Given the description of an element on the screen output the (x, y) to click on. 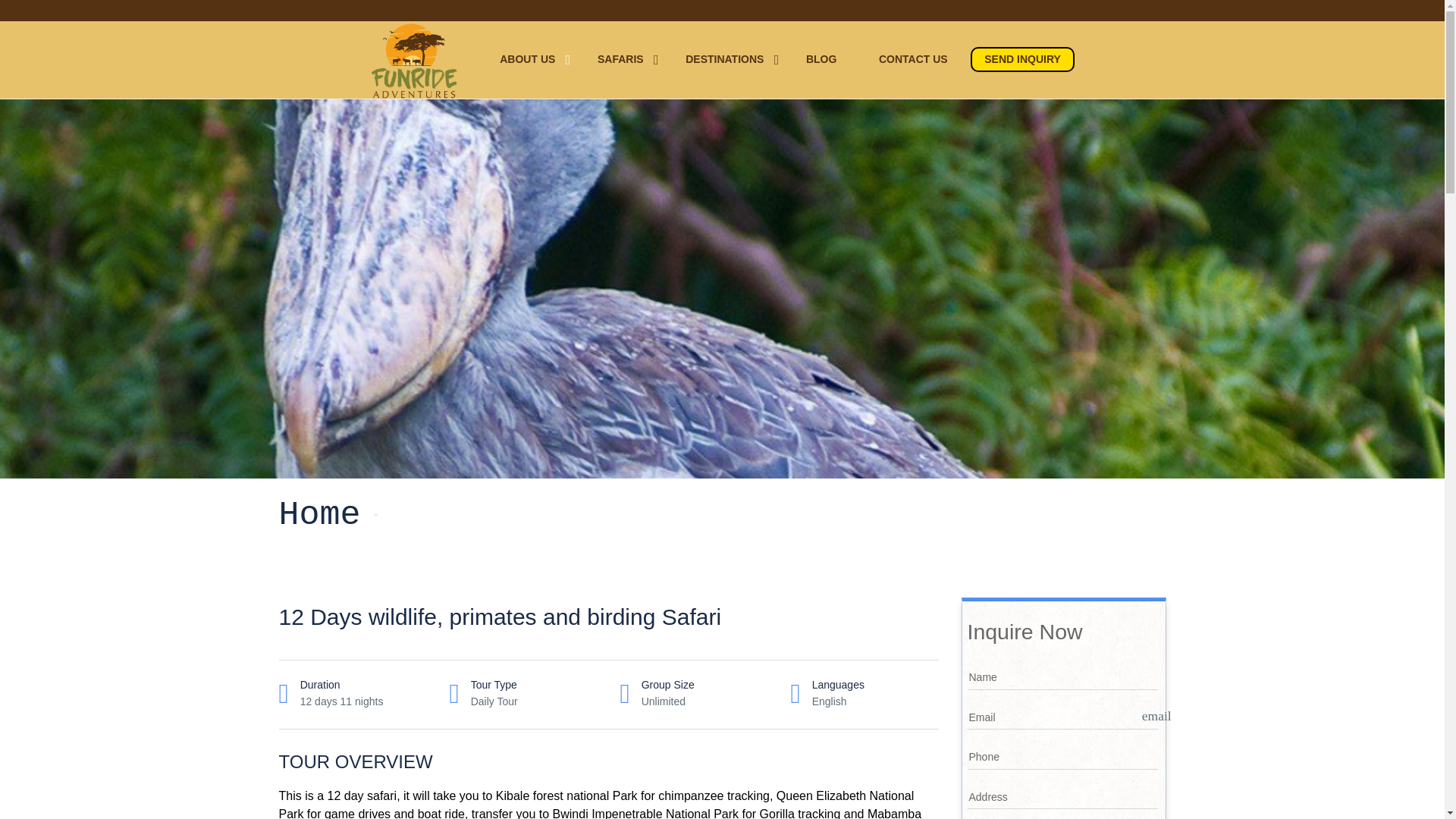
ABOUT US (526, 59)
SAFARIS (620, 59)
